Given the description of an element on the screen output the (x, y) to click on. 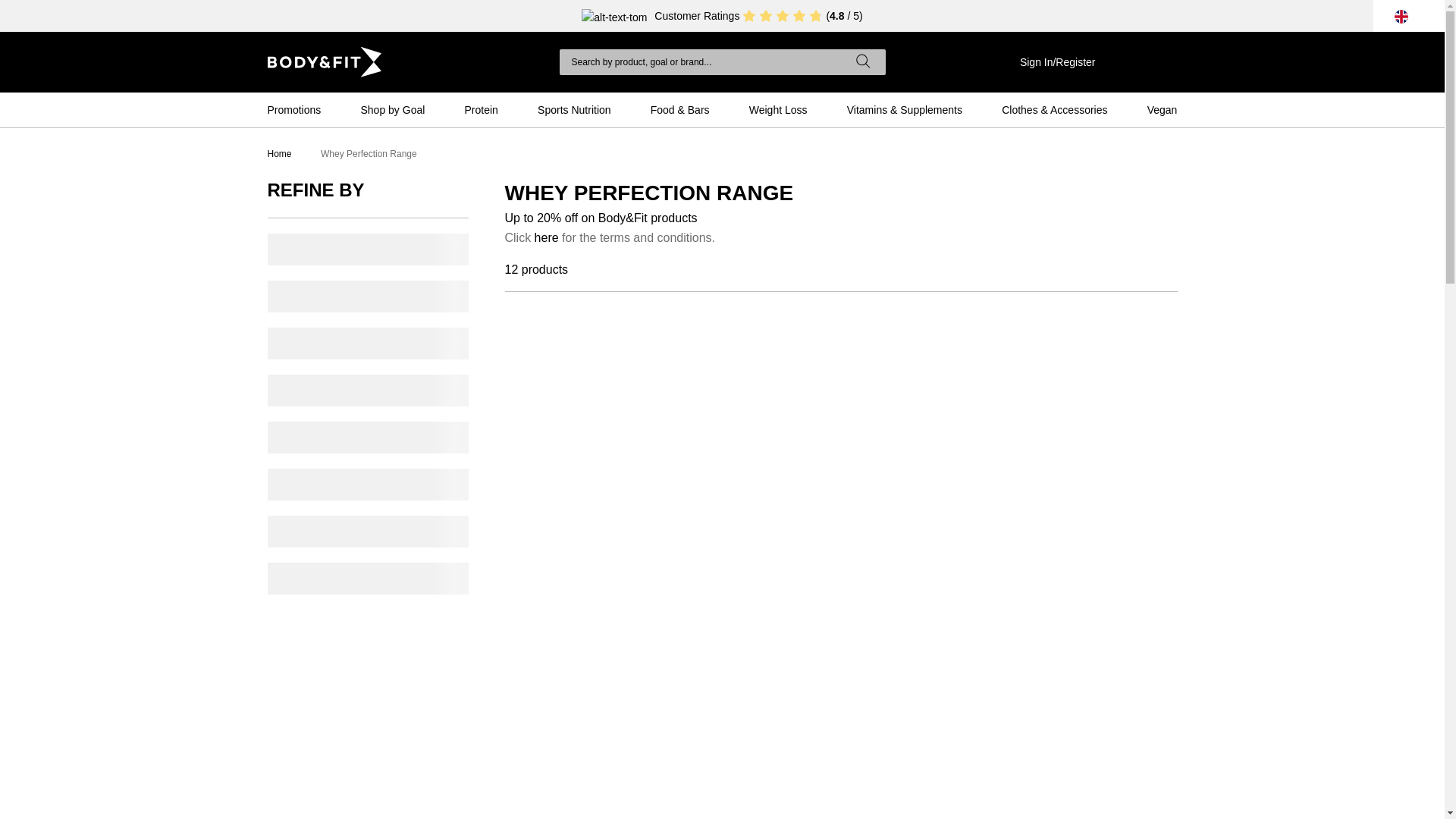
Promotions (293, 109)
Promotions (293, 109)
